Given the description of an element on the screen output the (x, y) to click on. 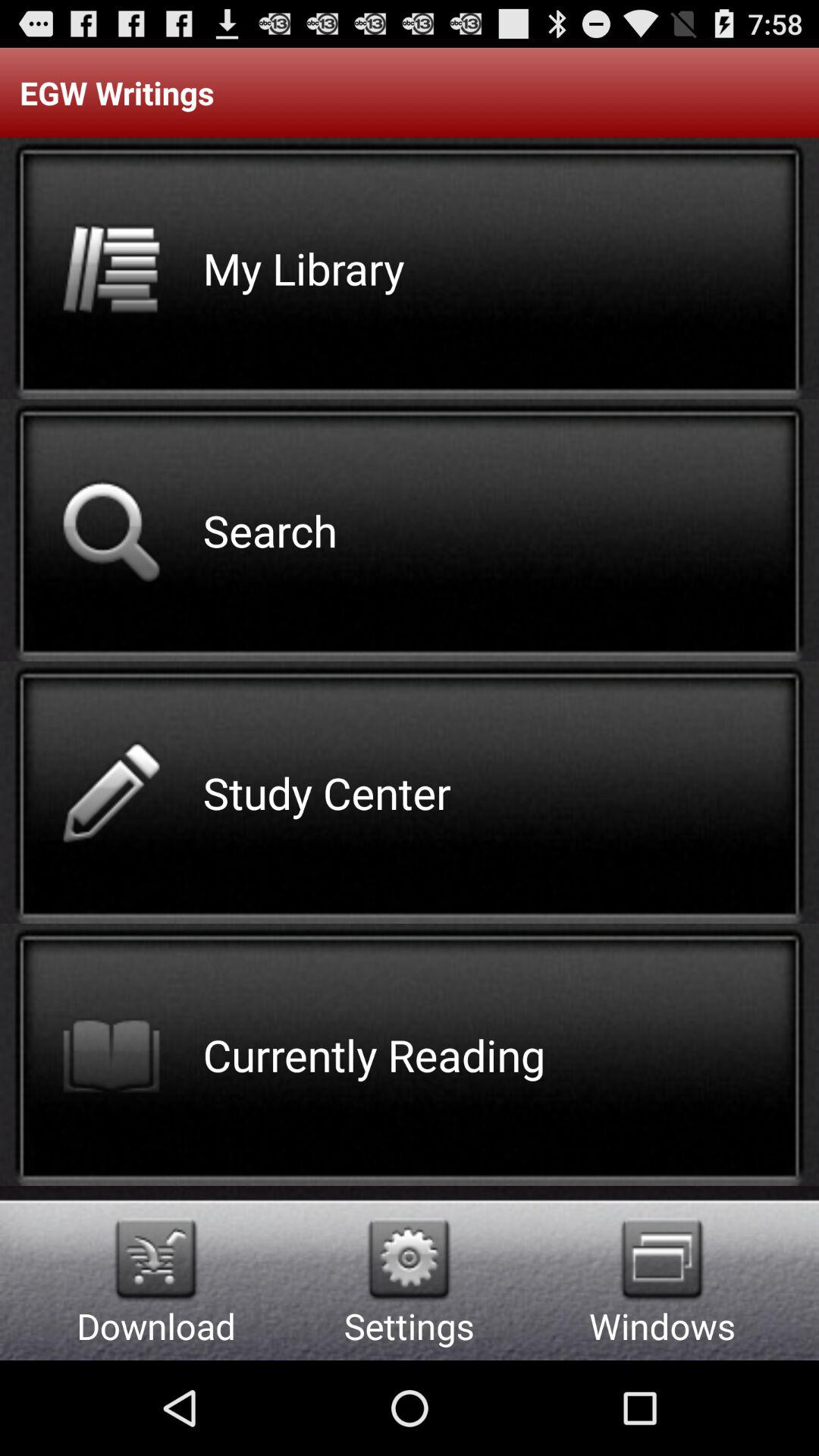
launch app to the right of the download item (409, 1258)
